Given the description of an element on the screen output the (x, y) to click on. 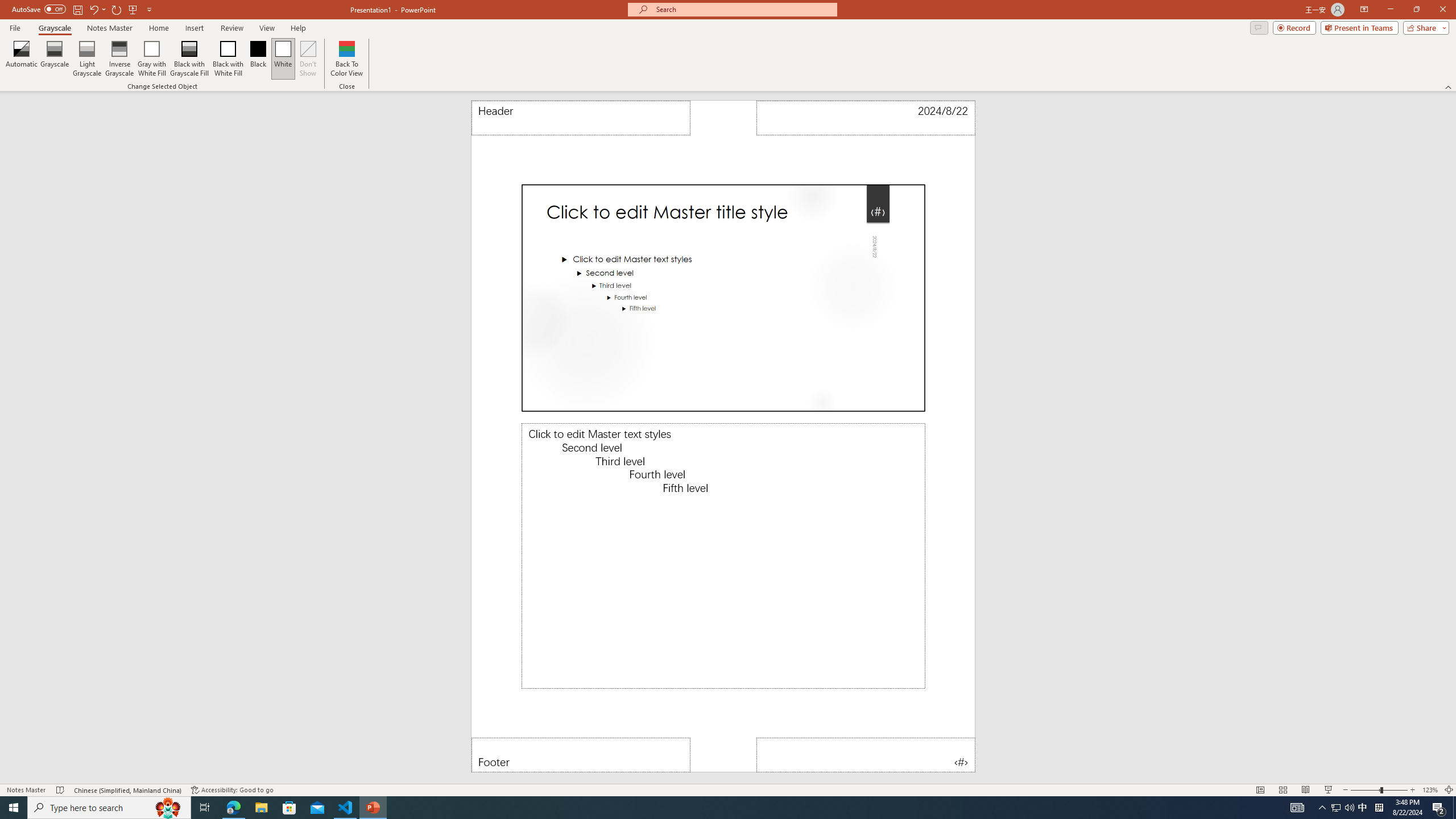
Notes Master (108, 28)
White (282, 58)
Automatic (21, 58)
Inverse Grayscale (119, 58)
Header (580, 117)
